Given the description of an element on the screen output the (x, y) to click on. 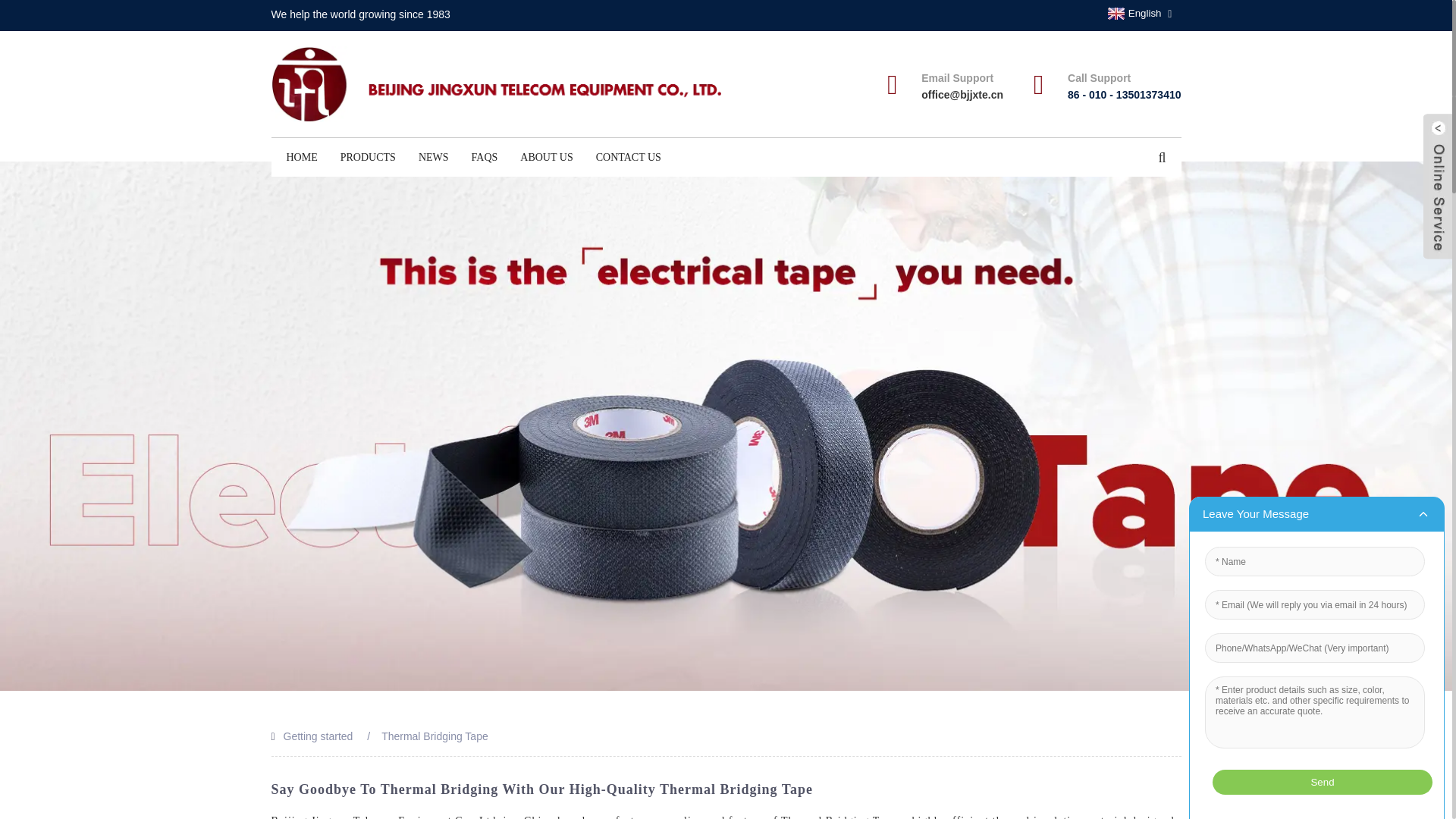
FAQS (484, 157)
ABOUT US (545, 157)
Thermal Bridging Tape (434, 736)
CONTACT US (628, 157)
NEWS (433, 157)
PRODUCTS (368, 157)
English (1132, 13)
Getting started (318, 736)
HOME (302, 157)
